Given the description of an element on the screen output the (x, y) to click on. 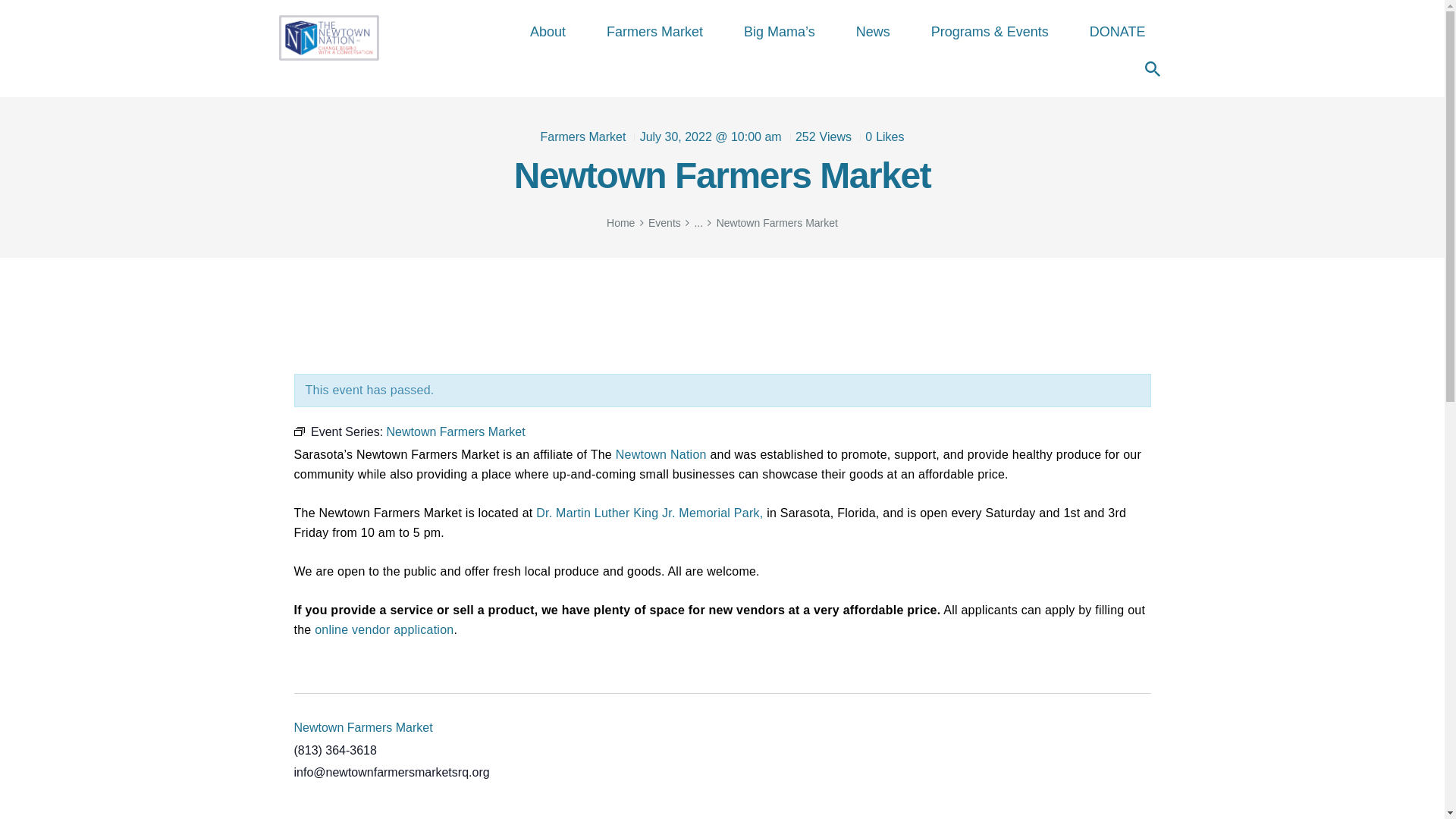
Home (620, 223)
About (547, 32)
Farmers Market (654, 32)
Events (664, 223)
Like (879, 136)
Farmers Market (583, 136)
DONATE (1117, 32)
View all posts in Farmers Market (583, 136)
252Views (817, 136)
Event Series (299, 430)
